Given the description of an element on the screen output the (x, y) to click on. 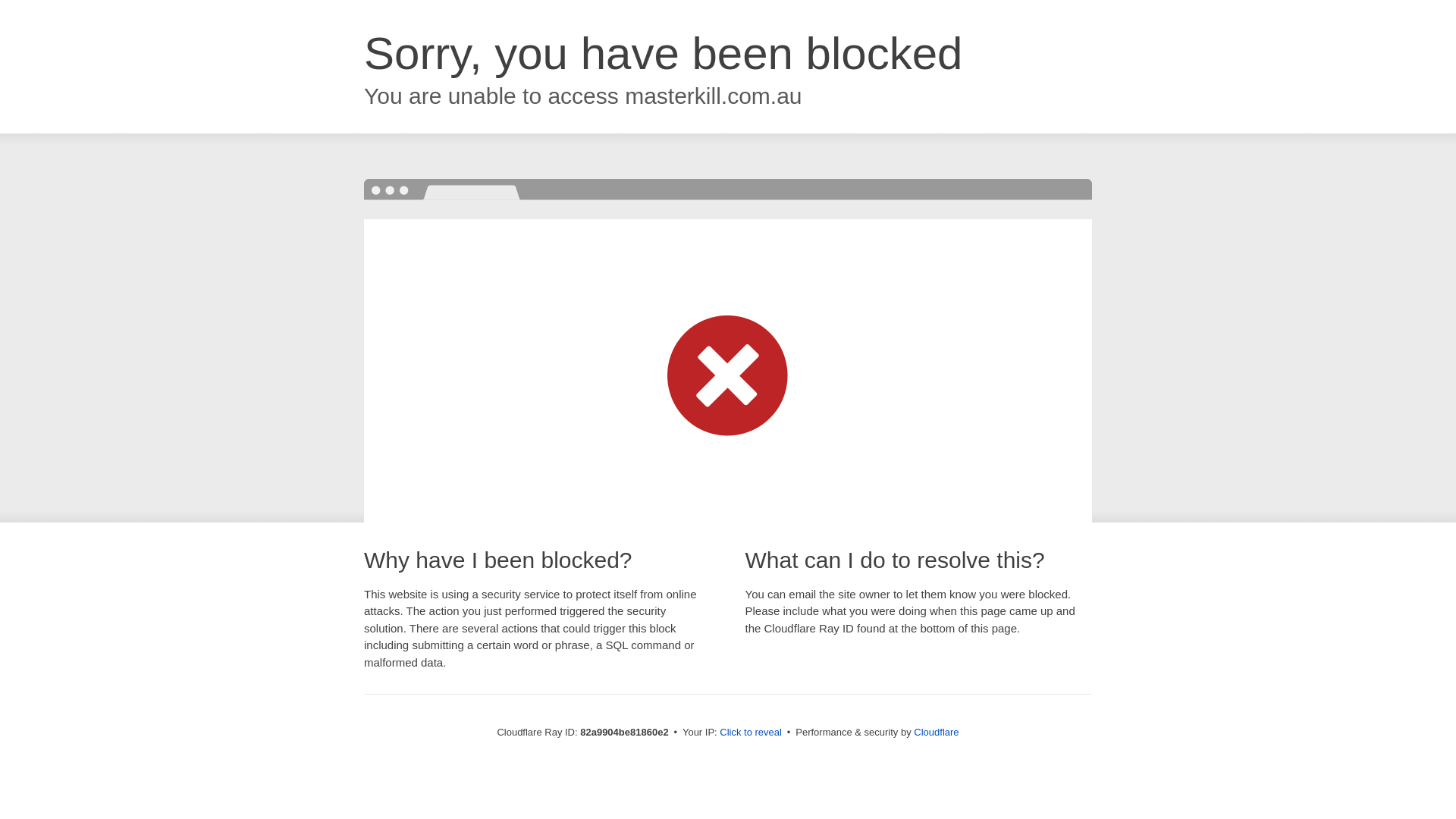
Cloudflare Element type: text (935, 731)
Click to reveal Element type: text (750, 732)
